Given the description of an element on the screen output the (x, y) to click on. 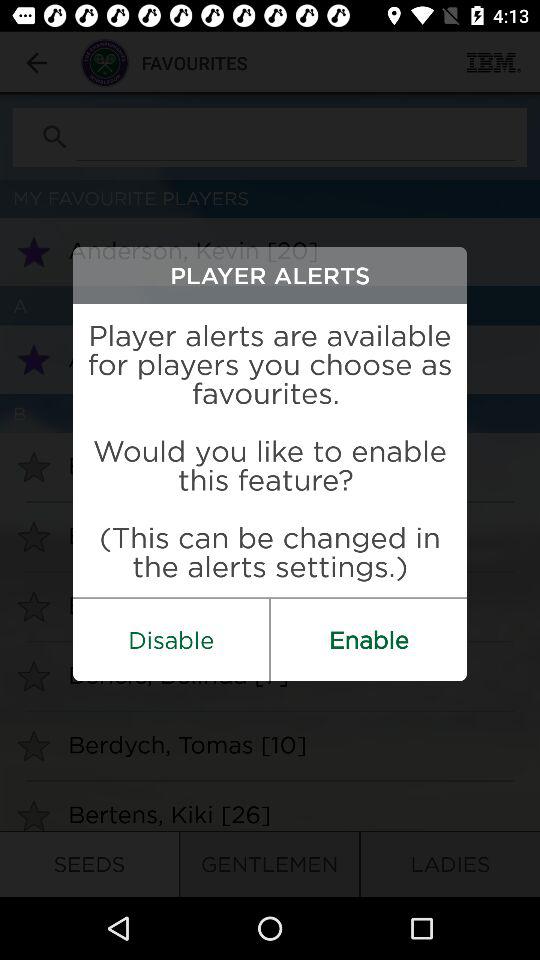
tap disable (171, 639)
